Given the description of an element on the screen output the (x, y) to click on. 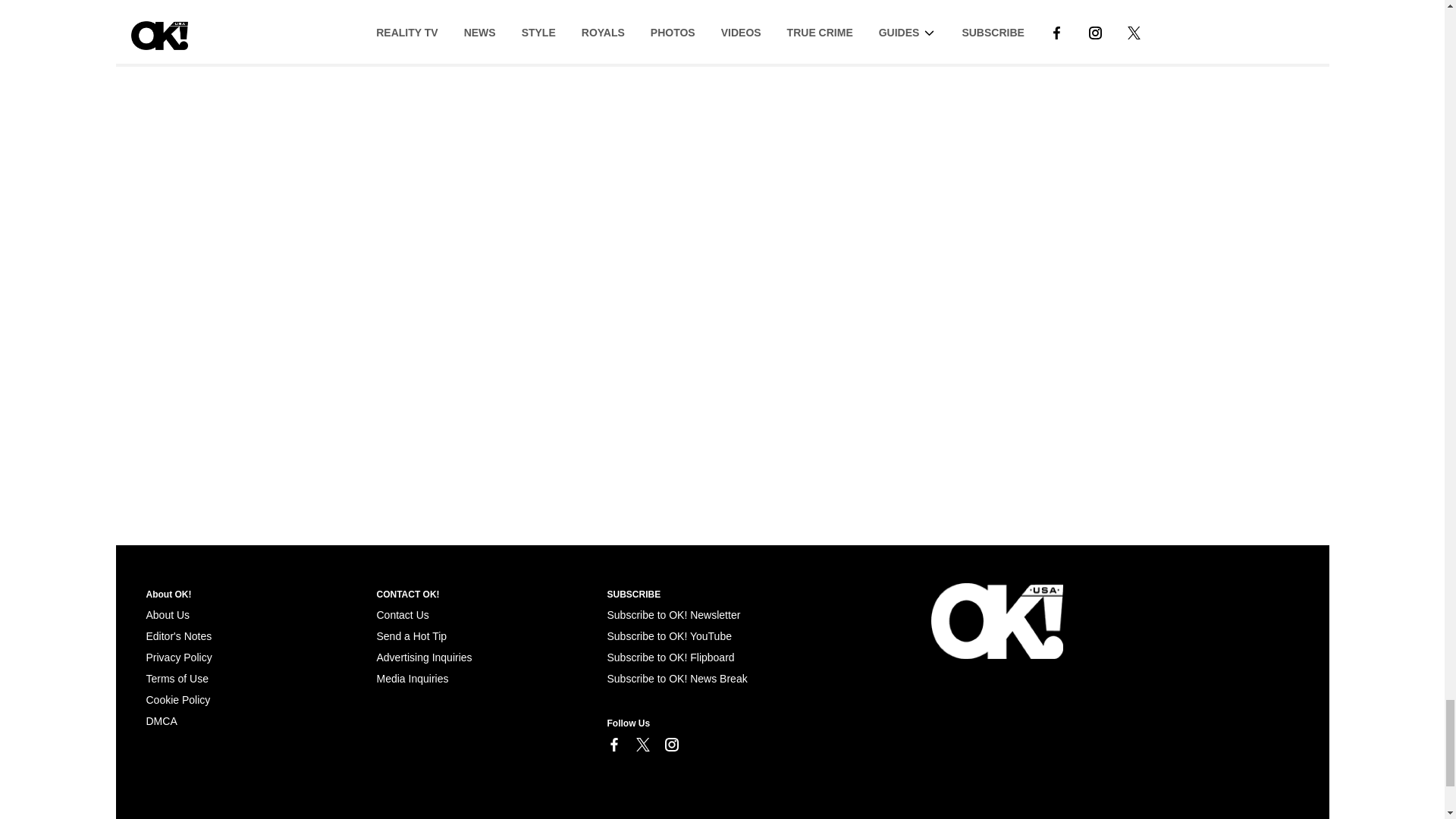
About Us (167, 614)
Link to X (641, 744)
Contact Us (401, 614)
Cookie Policy (177, 699)
Cookie Policy (160, 720)
Link to Facebook (613, 744)
Editor's Notes (178, 635)
Link to Instagram (670, 744)
Privacy Policy (178, 657)
Send a Hot Tip (410, 635)
